Given the description of an element on the screen output the (x, y) to click on. 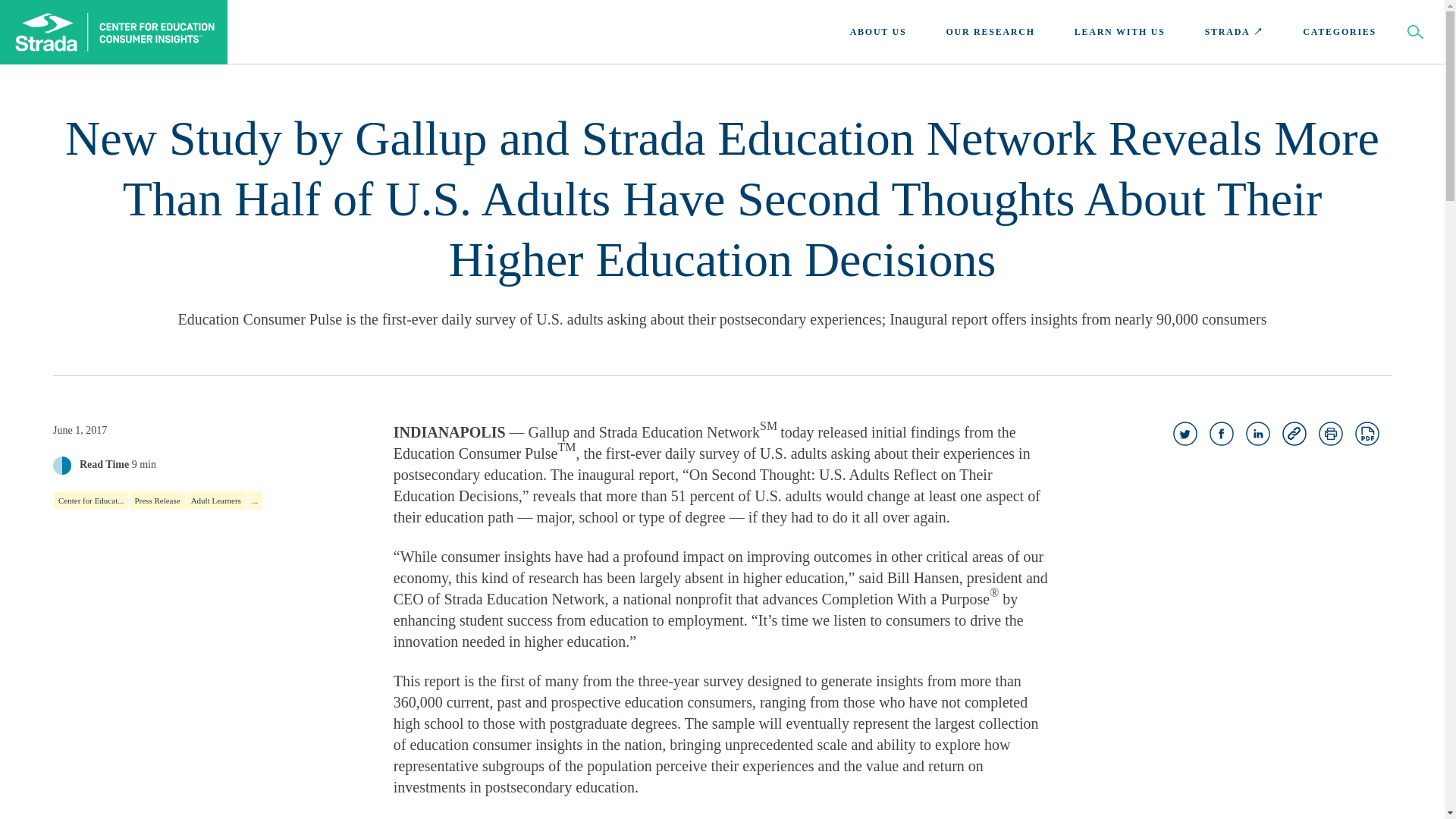
OUR RESEARCH (989, 31)
Group 13 (1184, 433)
CATEGORIES (1339, 31)
ABOUT US (877, 31)
Group 12 (1257, 433)
Group 11 (1221, 433)
LEARN WITH US (1120, 31)
